Given the description of an element on the screen output the (x, y) to click on. 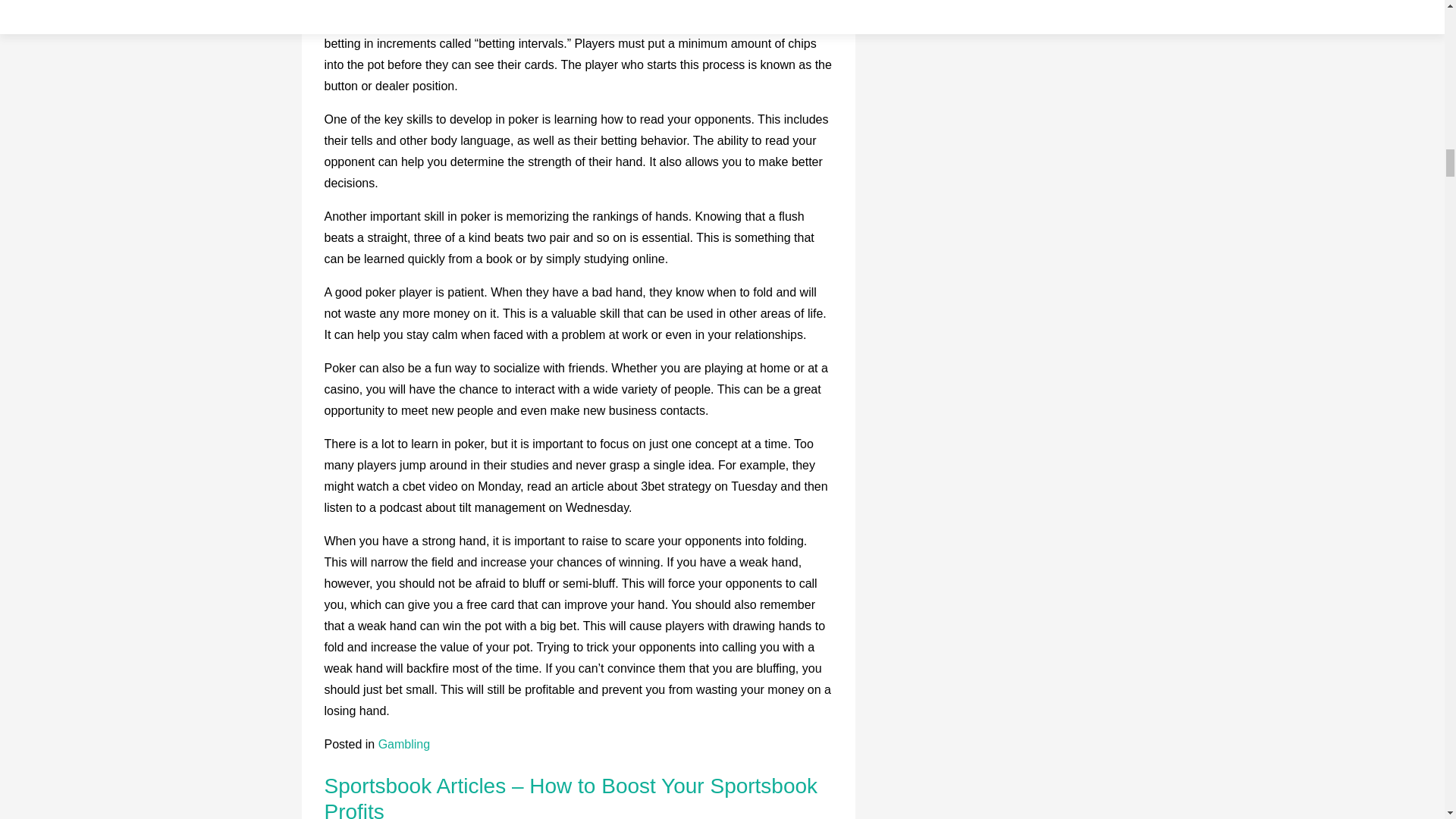
Gambling (403, 744)
